Given the description of an element on the screen output the (x, y) to click on. 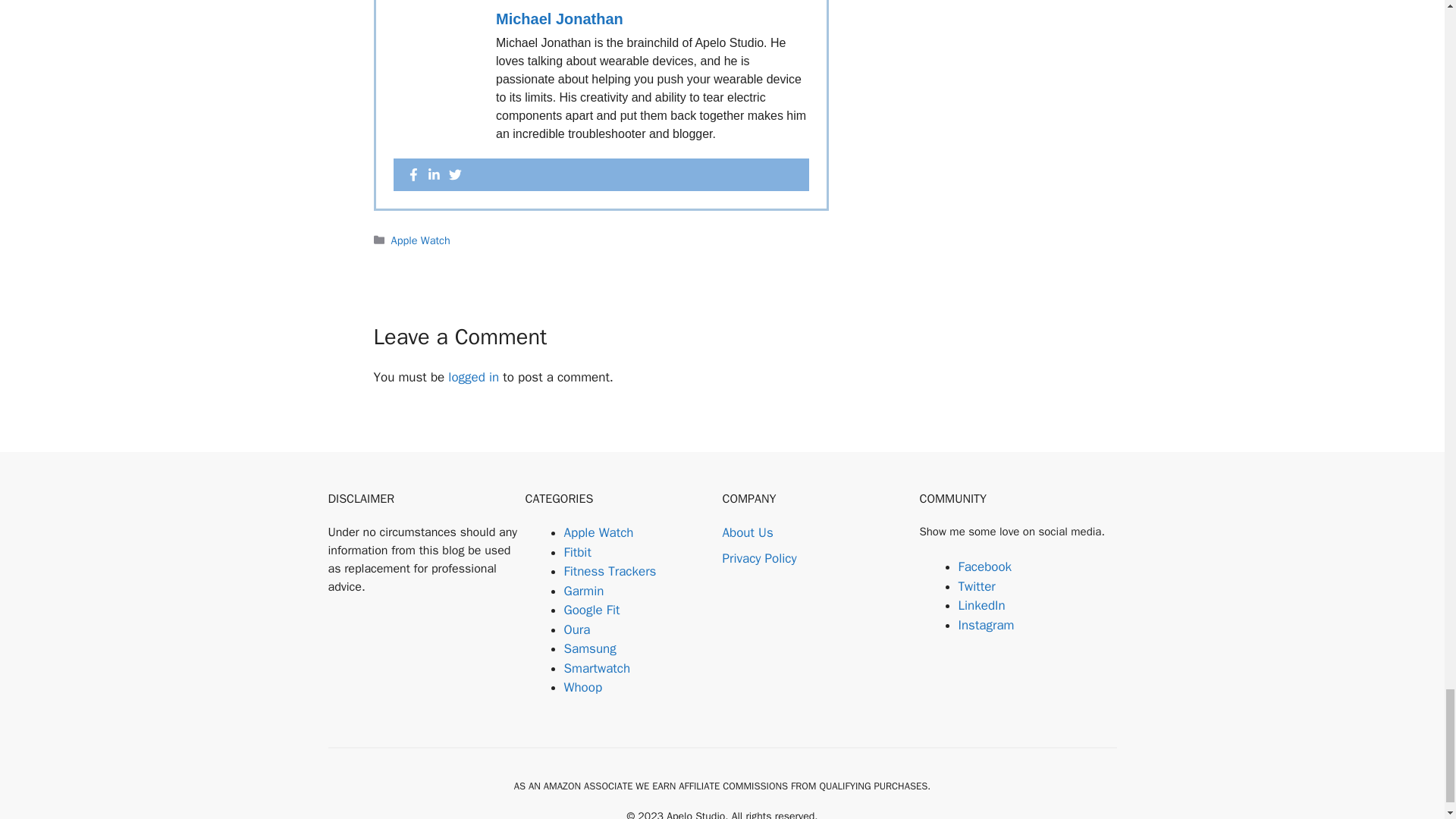
logged in (473, 376)
Oura (577, 629)
Apple Watch (598, 532)
Apple Watch (420, 240)
Fitbit (577, 552)
Garmin (584, 590)
Michael Jonathan (559, 18)
Google Fit (592, 609)
Fitness Trackers (610, 571)
